Given the description of an element on the screen output the (x, y) to click on. 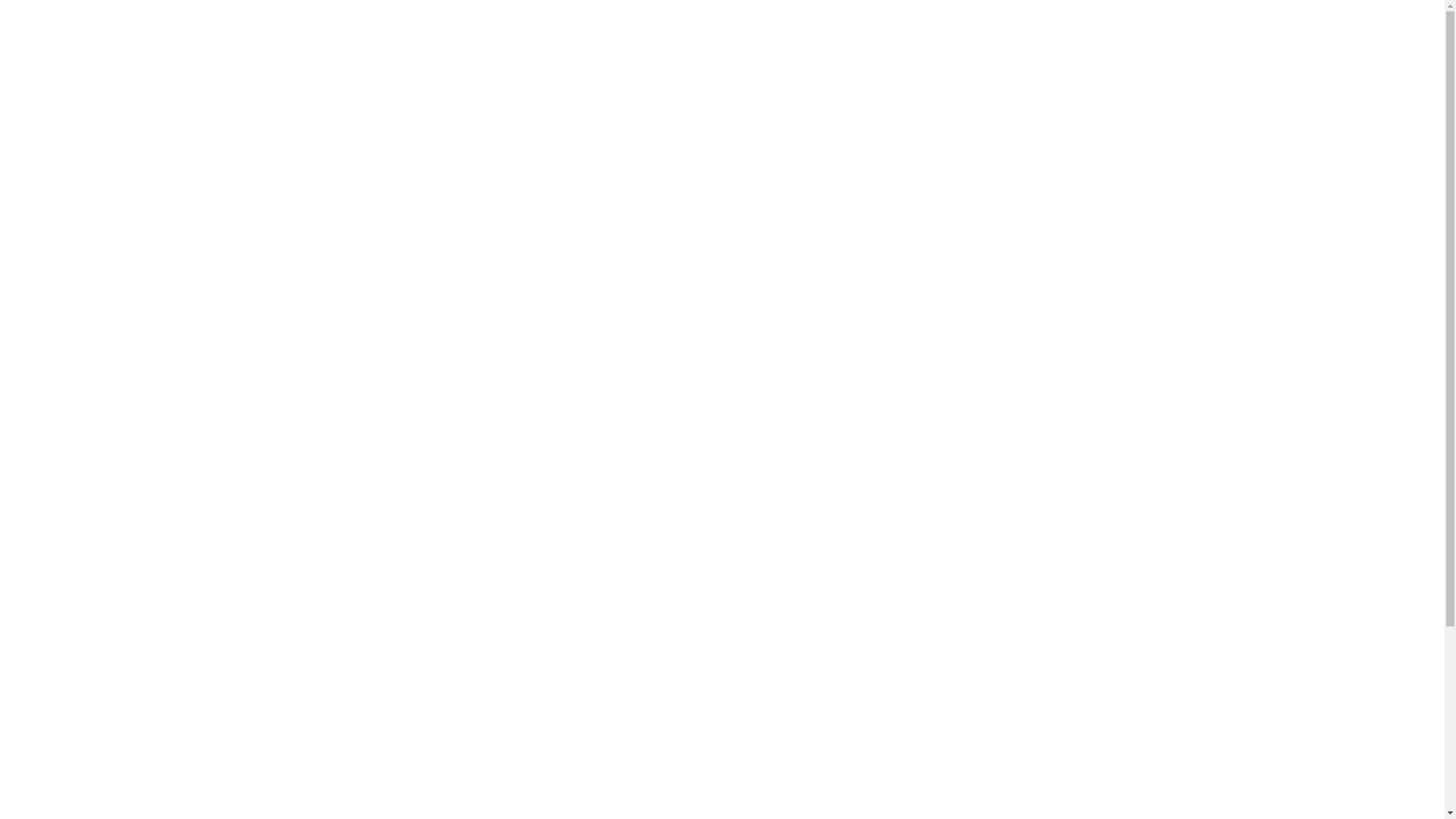
Microsoft Customer Journey-In-a-Box Playbooks Element type: text (331, 397)
Programs & Resources Element type: text (113, 384)
ClearMedia Element type: text (81, 90)
Technical Element type: text (134, 285)
Why ClearMedia? Element type: text (177, 62)
Incentives for Partners Element type: text (257, 314)
Learning Paths Element type: text (150, 174)
Initiative ClearMedia Element type: text (185, 89)
All Trainings Element type: text (142, 202)
Calendar Element type: text (134, 146)
Training Element type: text (71, 216)
ClearMedia Blog Feed Element type: text (191, 117)
Business Offer Development Element type: text (274, 453)
Marketing More With Less Element type: text (266, 425)
Build your Security practice Element type: text (271, 369)
Register Element type: text (587, 479)
Sales Element type: text (123, 258)
Microsoft AI Cloud Partner Program Element type: text (294, 342)
Login Element type: text (587, 502)
Podcasts Element type: text (135, 230)
